Given the description of an element on the screen output the (x, y) to click on. 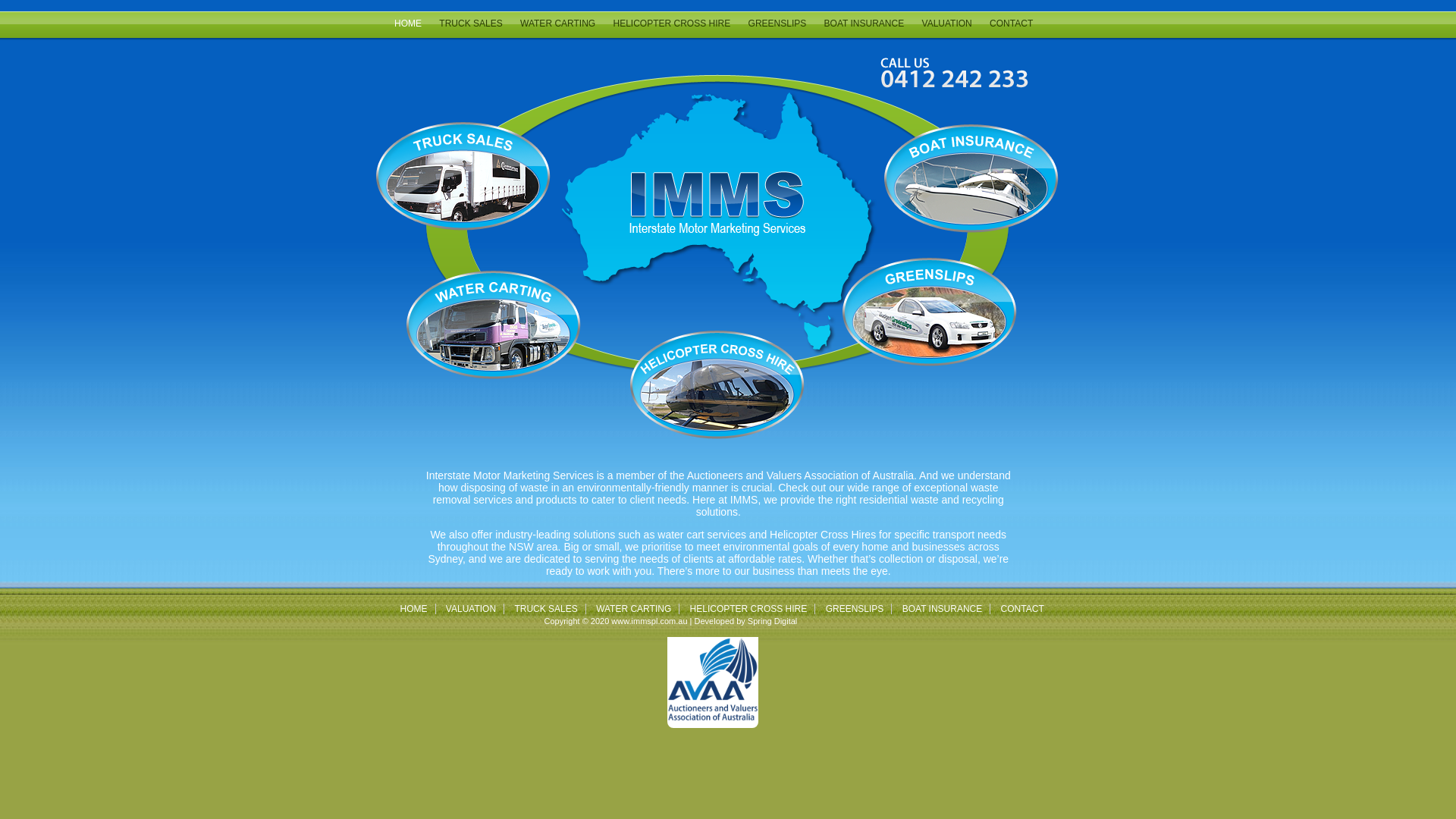
VALUATION Element type: text (947, 23)
BOAT INSURANCE Element type: text (864, 23)
HELICOPTER CROSS HIRE Element type: text (748, 608)
TRUCK SALES Element type: text (470, 23)
GREENSLIPS Element type: text (777, 23)
Spring Digital Element type: text (772, 620)
CONTACT Element type: text (1022, 608)
WATER CARTING Element type: text (557, 23)
TRUCK SALES Element type: text (545, 608)
HOME Element type: text (407, 23)
GREENSLIPS Element type: text (854, 608)
VALUATION Element type: text (470, 608)
HELICOPTER CROSS HIRE Element type: text (672, 23)
HOME Element type: text (413, 608)
BOAT INSURANCE Element type: text (942, 608)
CONTACT Element type: text (1010, 23)
WATER CARTING Element type: text (633, 608)
